Given the description of an element on the screen output the (x, y) to click on. 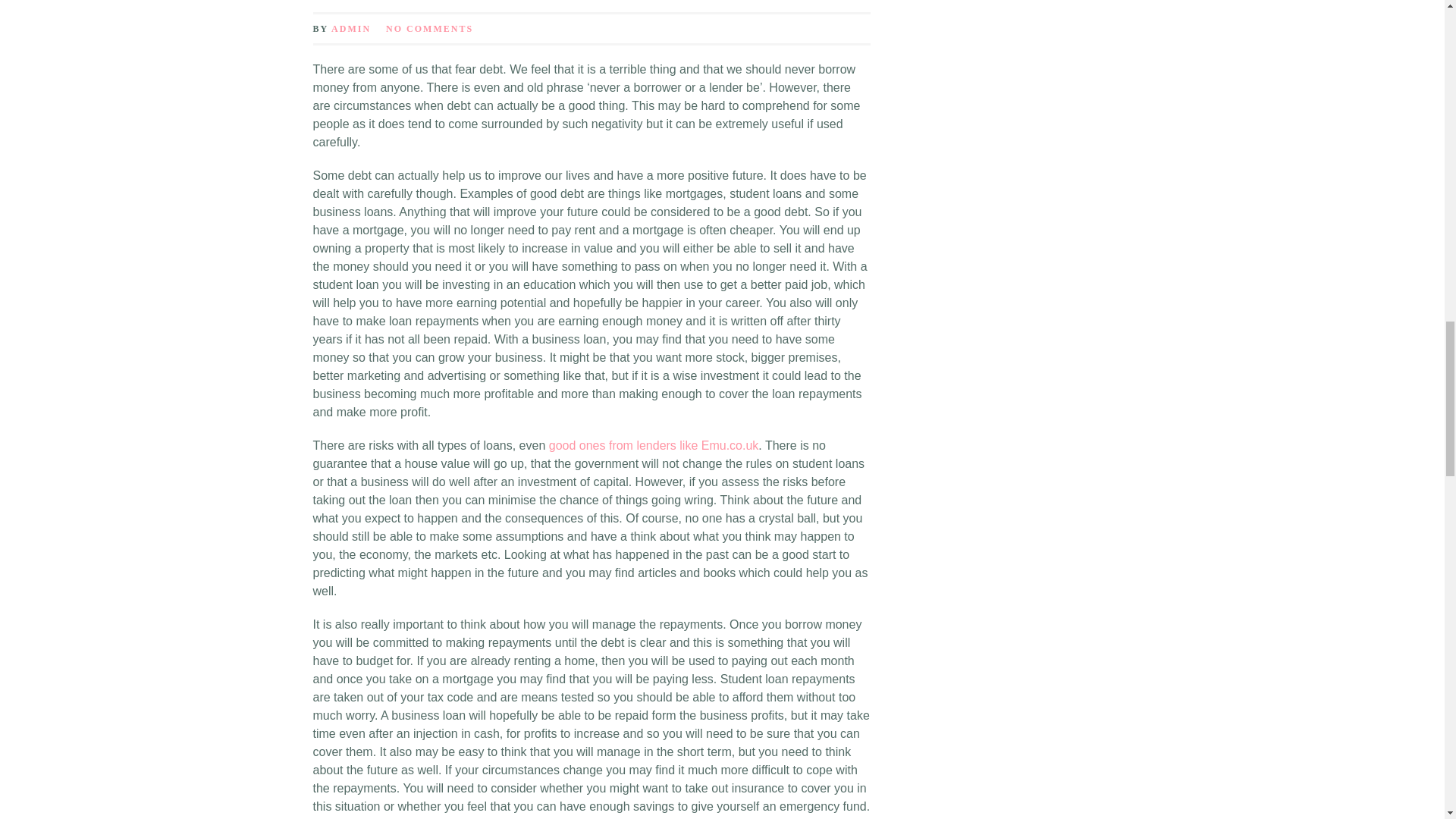
good ones from lenders like Emu.co.uk (653, 445)
ADMIN (351, 28)
NO COMMENTS (429, 28)
Posts by admin (351, 28)
